Given the description of an element on the screen output the (x, y) to click on. 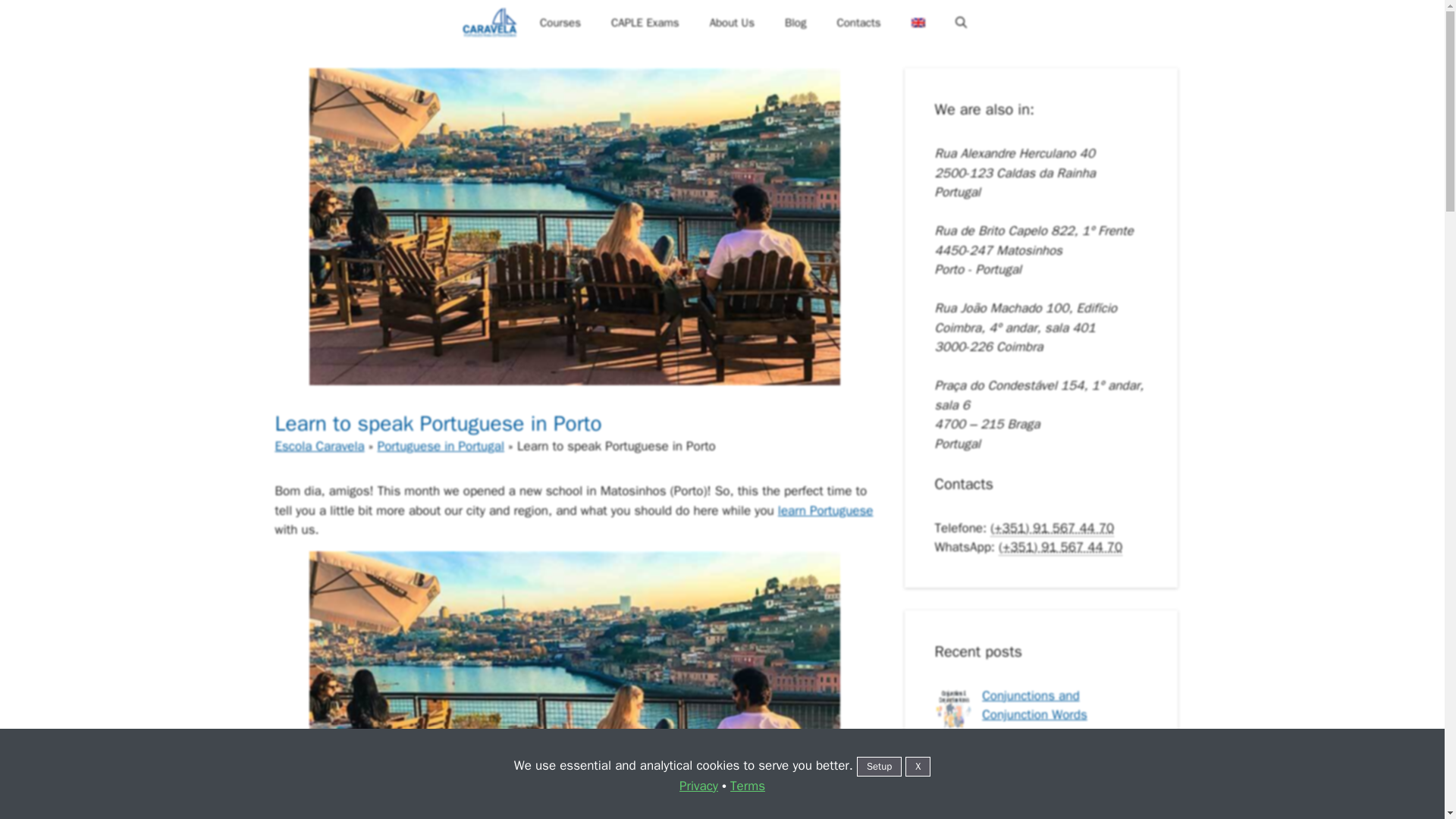
learn Portuguese (825, 510)
Portuguese in Portugal (440, 446)
Blog (795, 22)
Telefone (1051, 528)
Escola Caravela (319, 446)
About Us (732, 22)
Caravela School (489, 22)
Courses (559, 22)
WhatsApp (1060, 547)
